Given the description of an element on the screen output the (x, y) to click on. 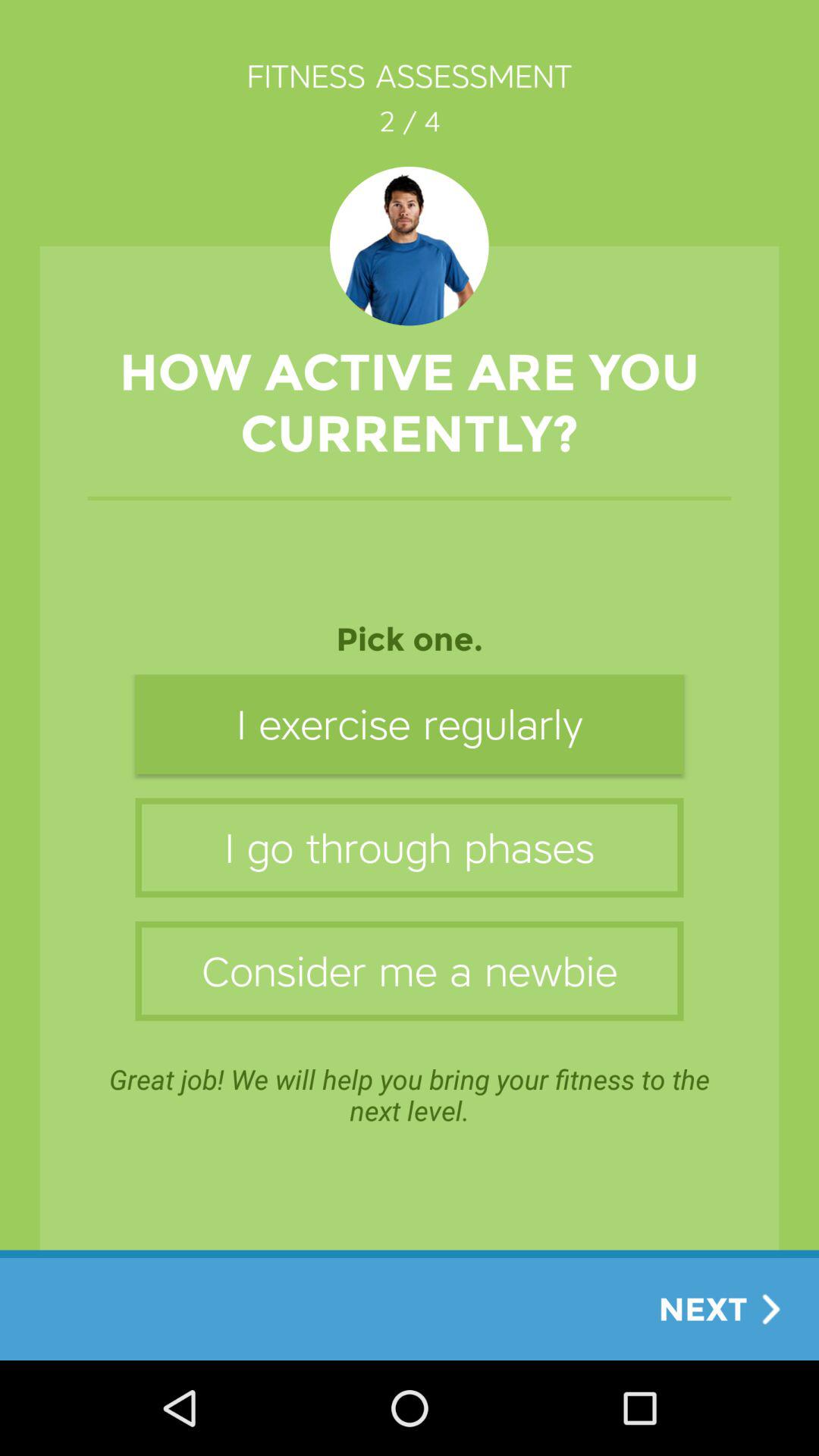
flip to i go through item (409, 847)
